Given the description of an element on the screen output the (x, y) to click on. 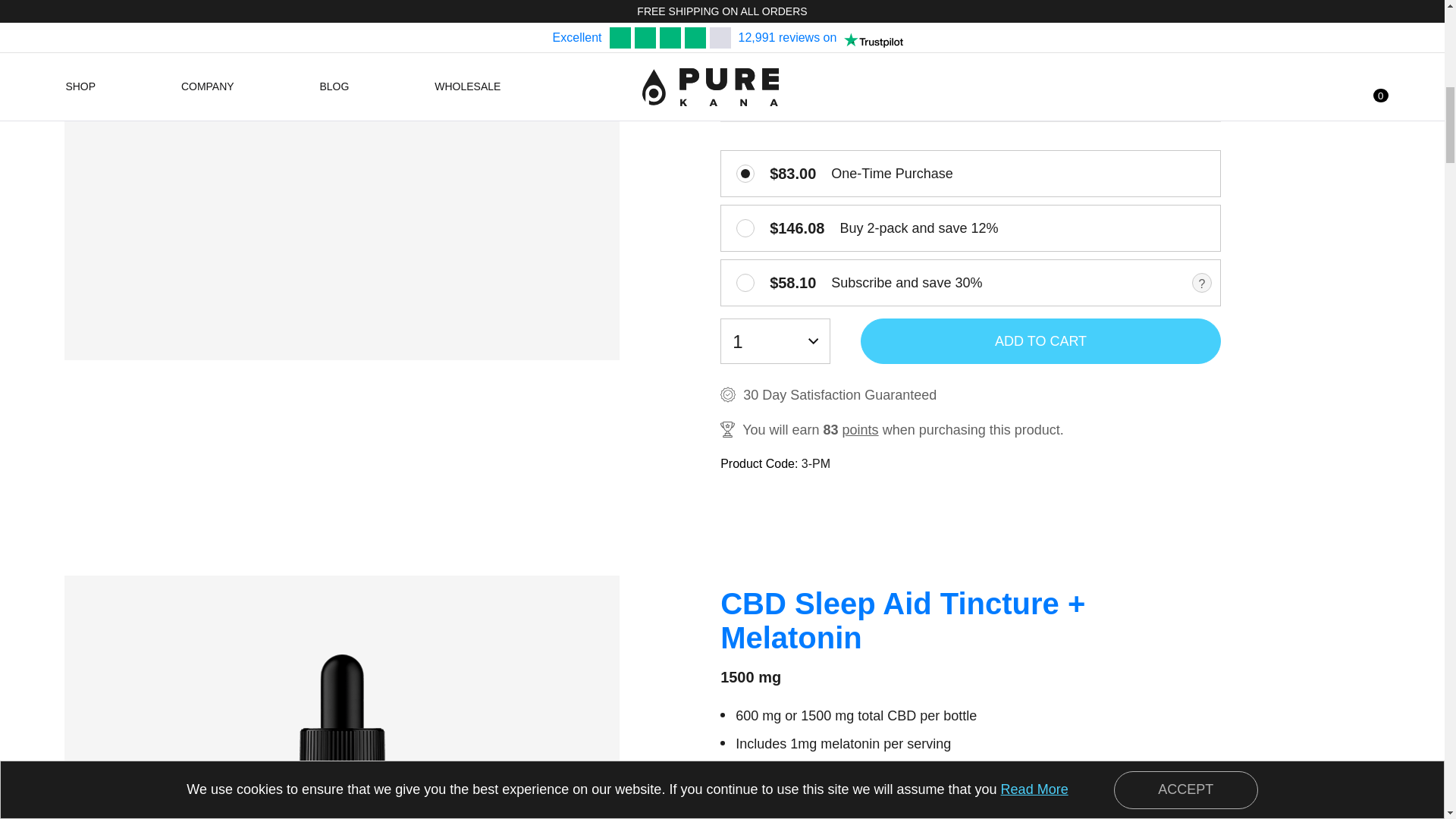
0 (745, 173)
2 (745, 228)
1 (745, 282)
